Given the description of an element on the screen output the (x, y) to click on. 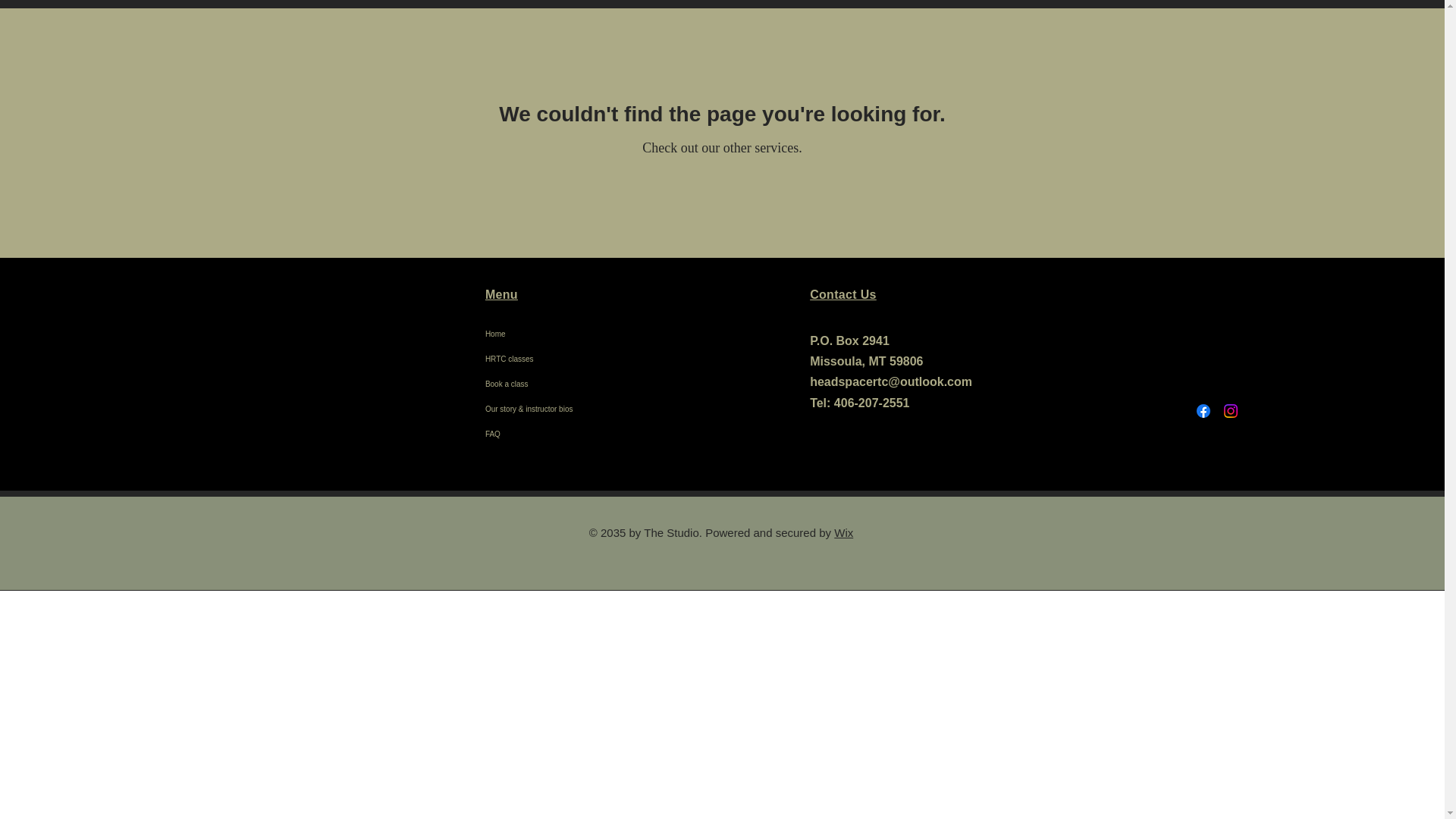
Wix (843, 532)
HRTC classes (810, 44)
HRTC classes (541, 358)
FAQ (541, 433)
Log In (1341, 48)
Book a class (541, 383)
Book a class (922, 44)
Home (723, 44)
Home (541, 333)
